Given the description of an element on the screen output the (x, y) to click on. 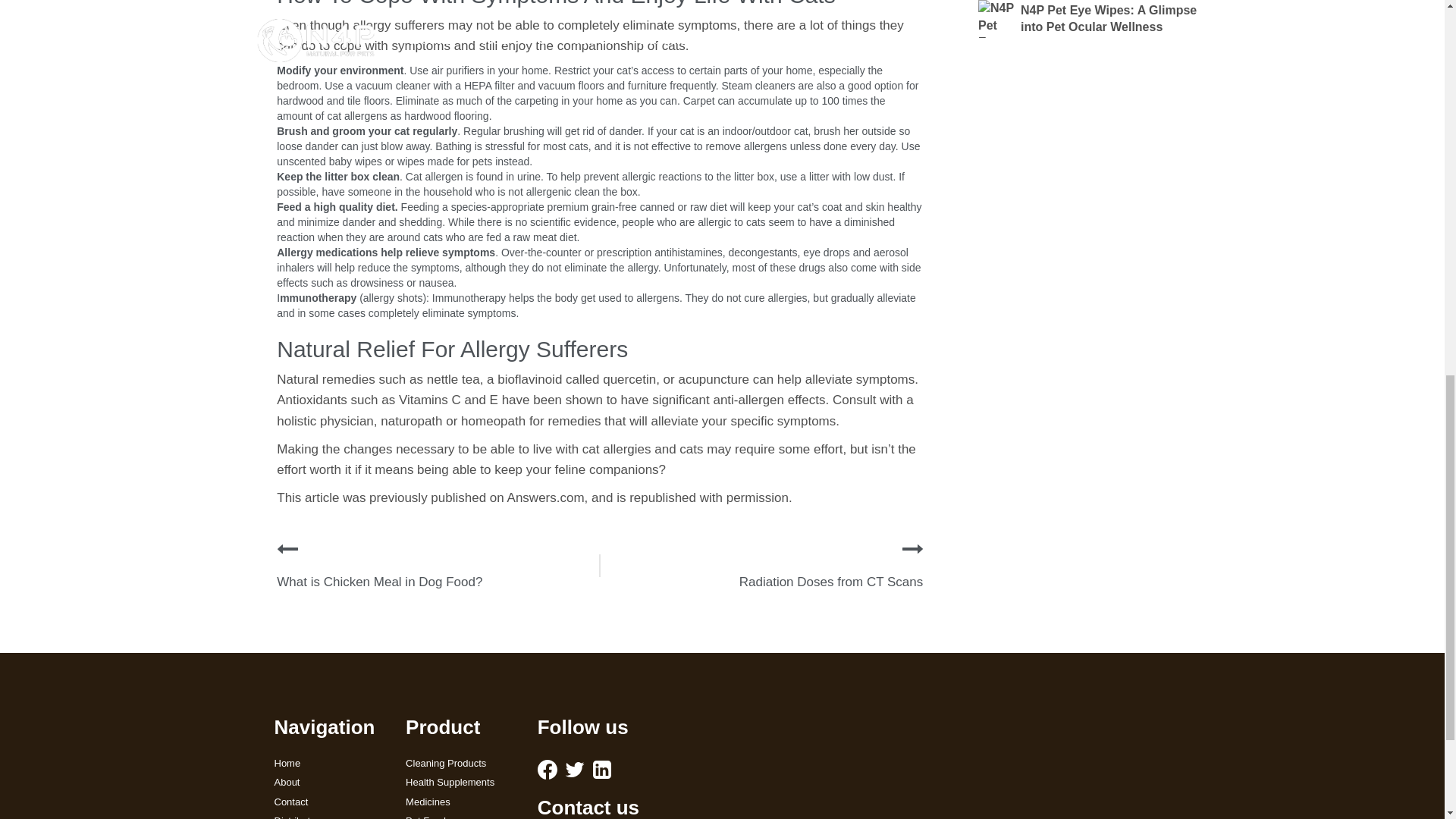
previous article (287, 548)
N4P Pet Eye Wipes: A Glimpse into Pet Ocular Wellness (1088, 18)
What is Chicken Meal in Dog Food? (378, 581)
Radiation Doses from CT Scans (831, 581)
Twitter (574, 769)
next article (912, 548)
Home (329, 763)
Linkedin (601, 769)
